Given the description of an element on the screen output the (x, y) to click on. 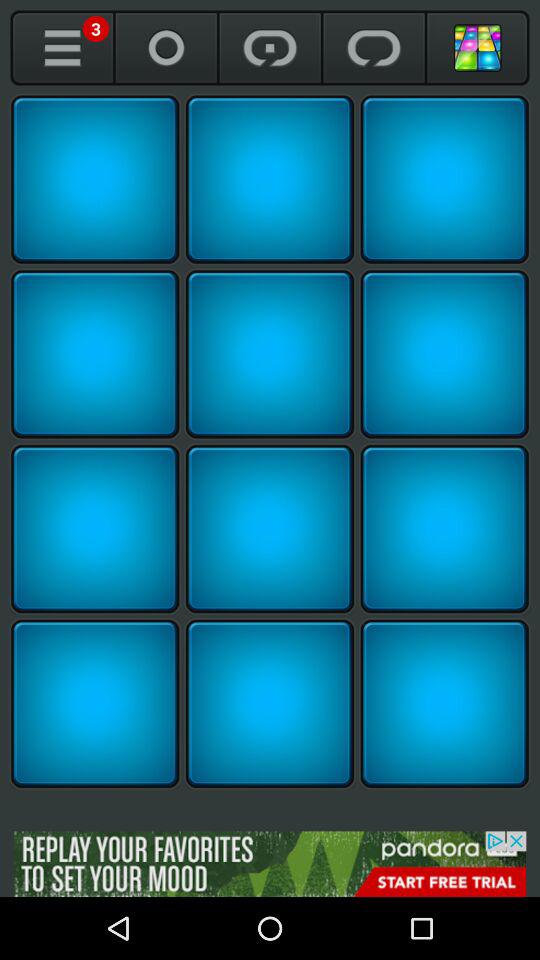
share the article (269, 354)
